Given the description of an element on the screen output the (x, y) to click on. 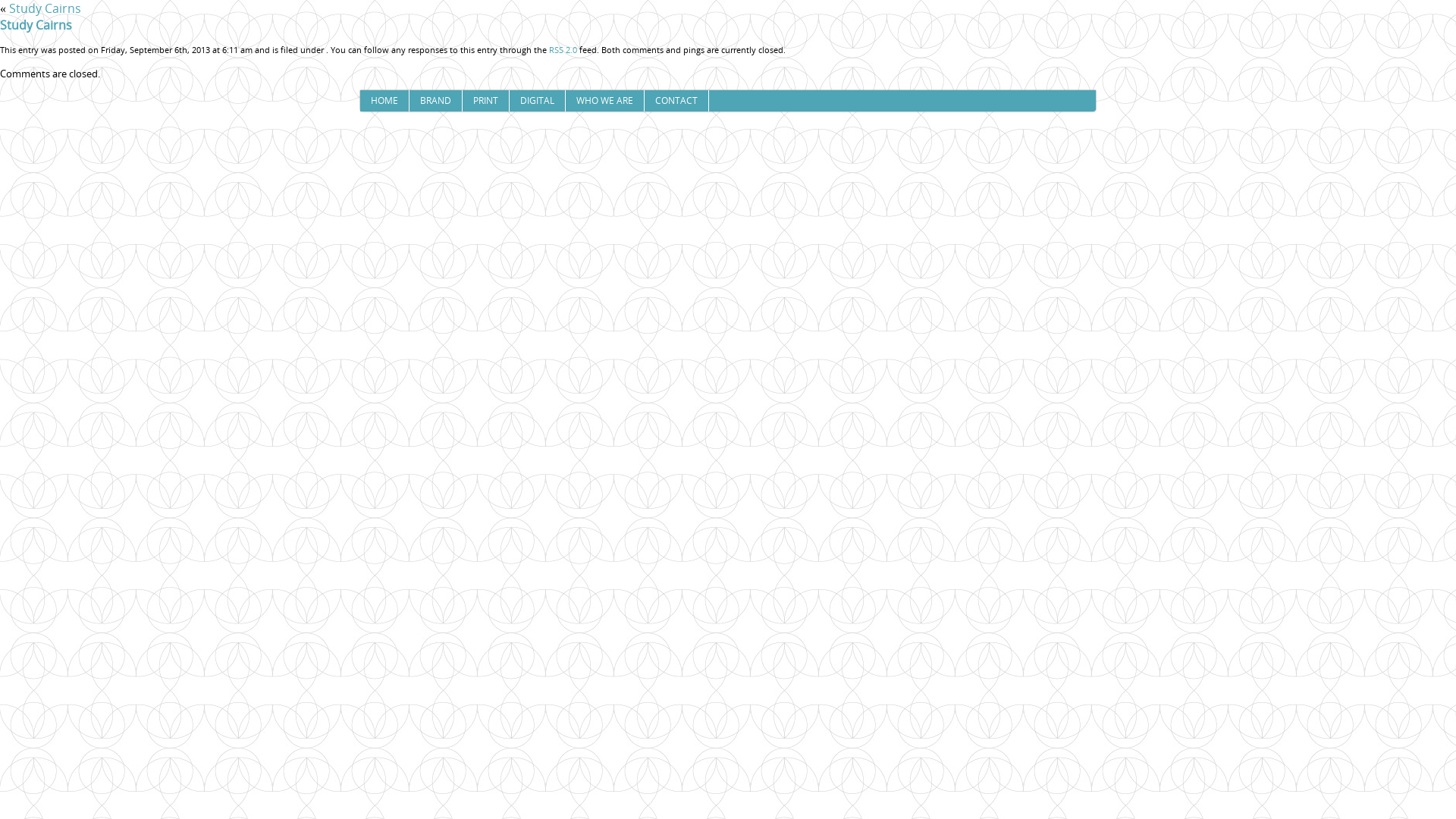
WHO WE ARE Element type: text (603, 100)
CONTACT Element type: text (676, 100)
RSS 2.0 Element type: text (563, 49)
BRAND Element type: text (434, 100)
DIGITAL Element type: text (536, 100)
HOME Element type: text (384, 100)
PRINT Element type: text (484, 100)
Study Cairns Element type: text (45, 8)
